Given the description of an element on the screen output the (x, y) to click on. 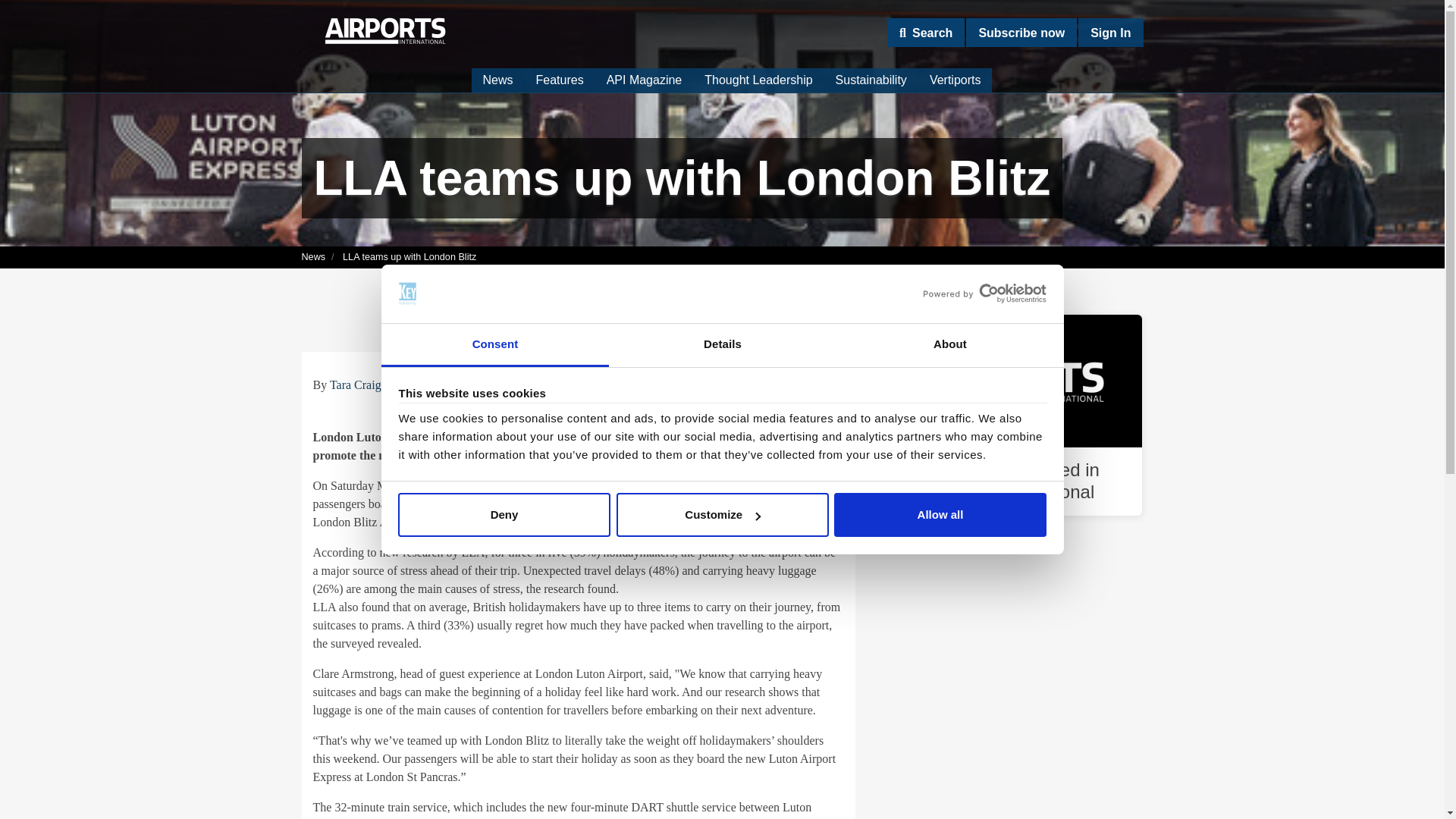
About (948, 344)
Consent (494, 344)
Home (384, 30)
Details (721, 344)
Sign into the site (1110, 32)
